Given the description of an element on the screen output the (x, y) to click on. 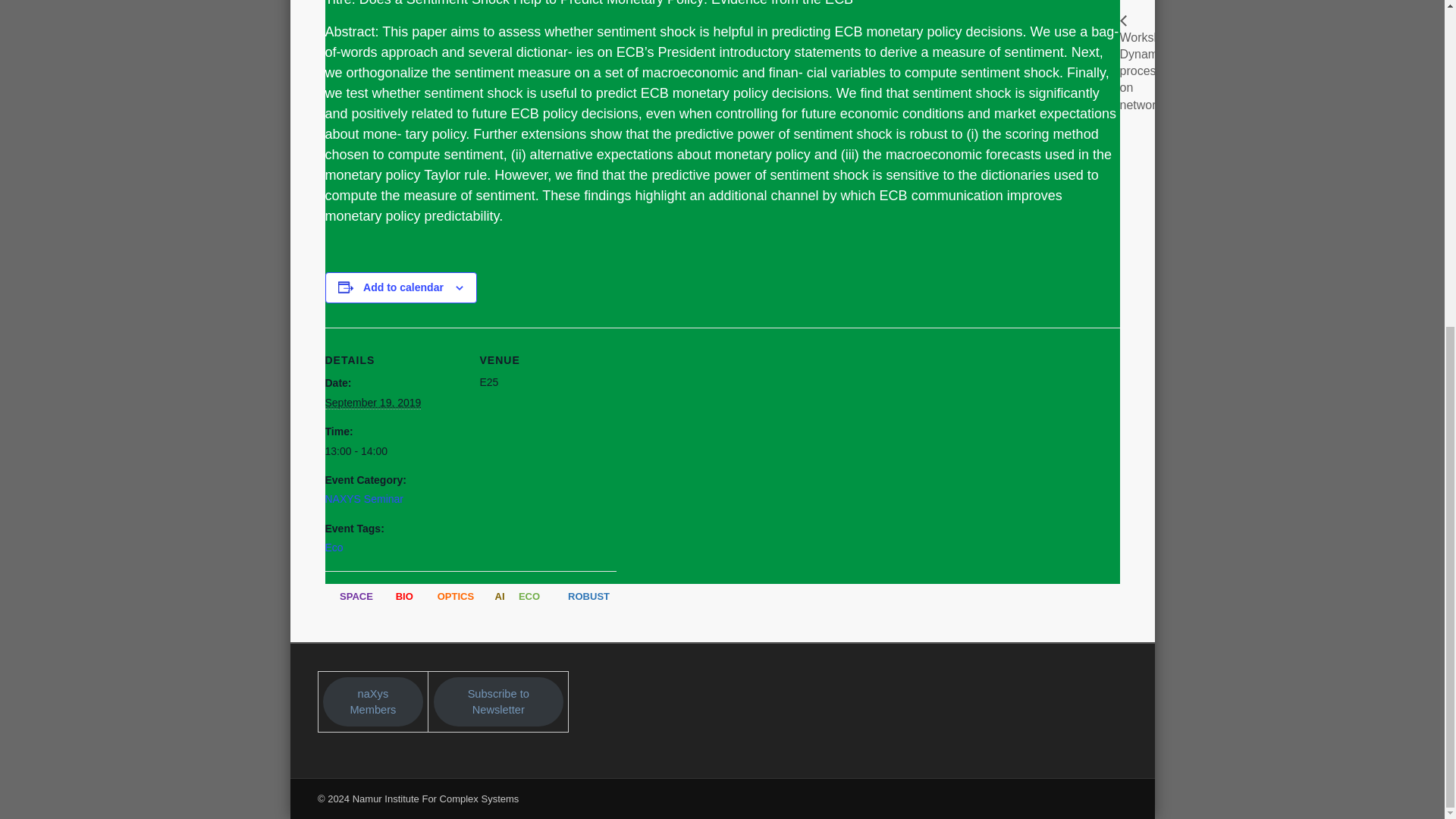
ROBUST (588, 595)
2019-09-19 (372, 402)
NAXYS Seminar (363, 499)
Add to calendar (403, 287)
OPTICS (456, 595)
SPACE (355, 595)
naXys Members (373, 702)
Eco (333, 547)
2019-09-19 (392, 451)
ECO (529, 595)
